Given the description of an element on the screen output the (x, y) to click on. 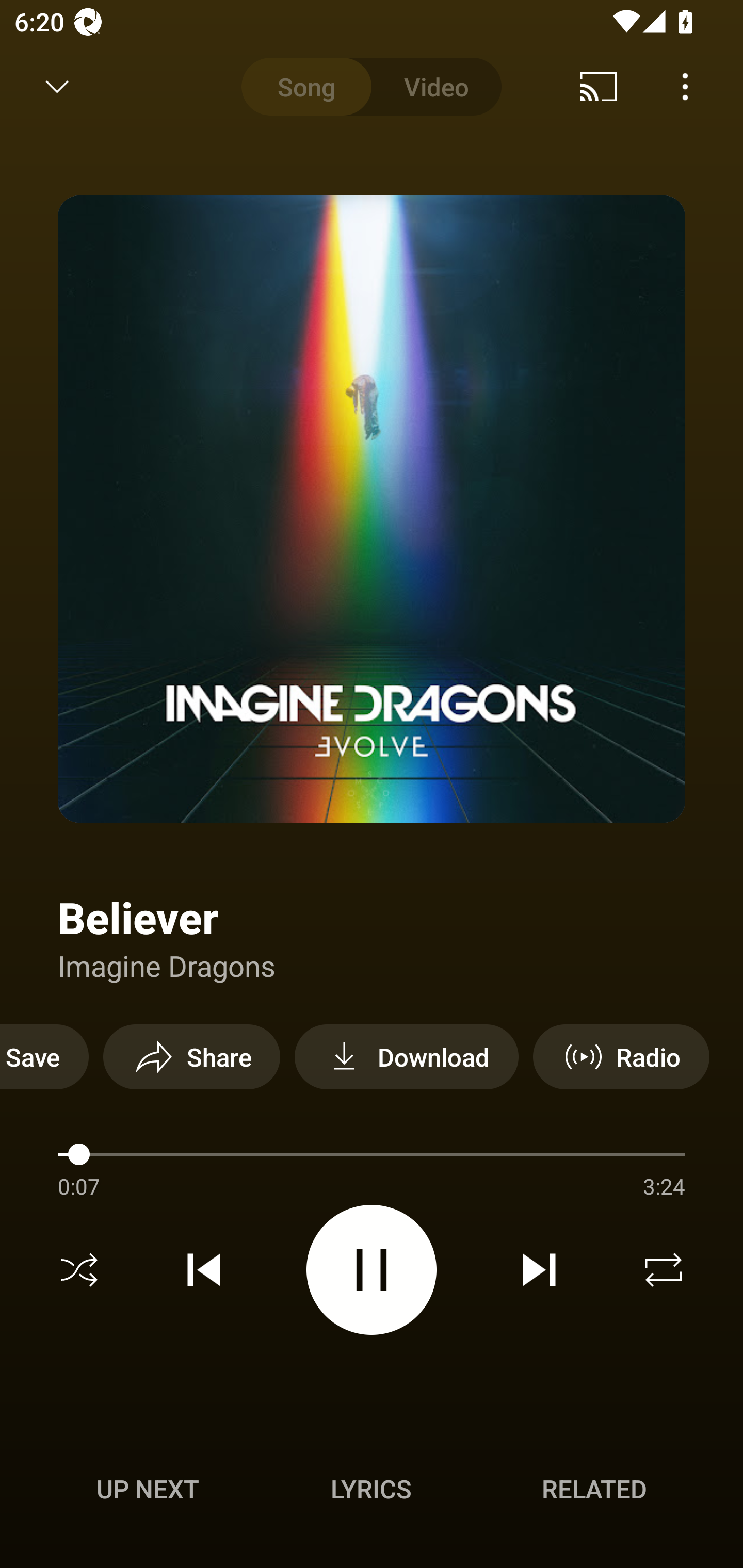
Minimize (57, 86)
Cast. Disconnected (598, 86)
Menu (684, 86)
Save Save to playlist (44, 1056)
Share (191, 1056)
Download (406, 1056)
Radio (620, 1056)
Pause video (371, 1269)
Shuffle off (79, 1269)
Previous track (203, 1269)
Next track (538, 1269)
Repeat off (663, 1269)
Up next UP NEXT Lyrics LYRICS Related RELATED (371, 1491)
Lyrics LYRICS (370, 1488)
Related RELATED (594, 1488)
